Given the description of an element on the screen output the (x, y) to click on. 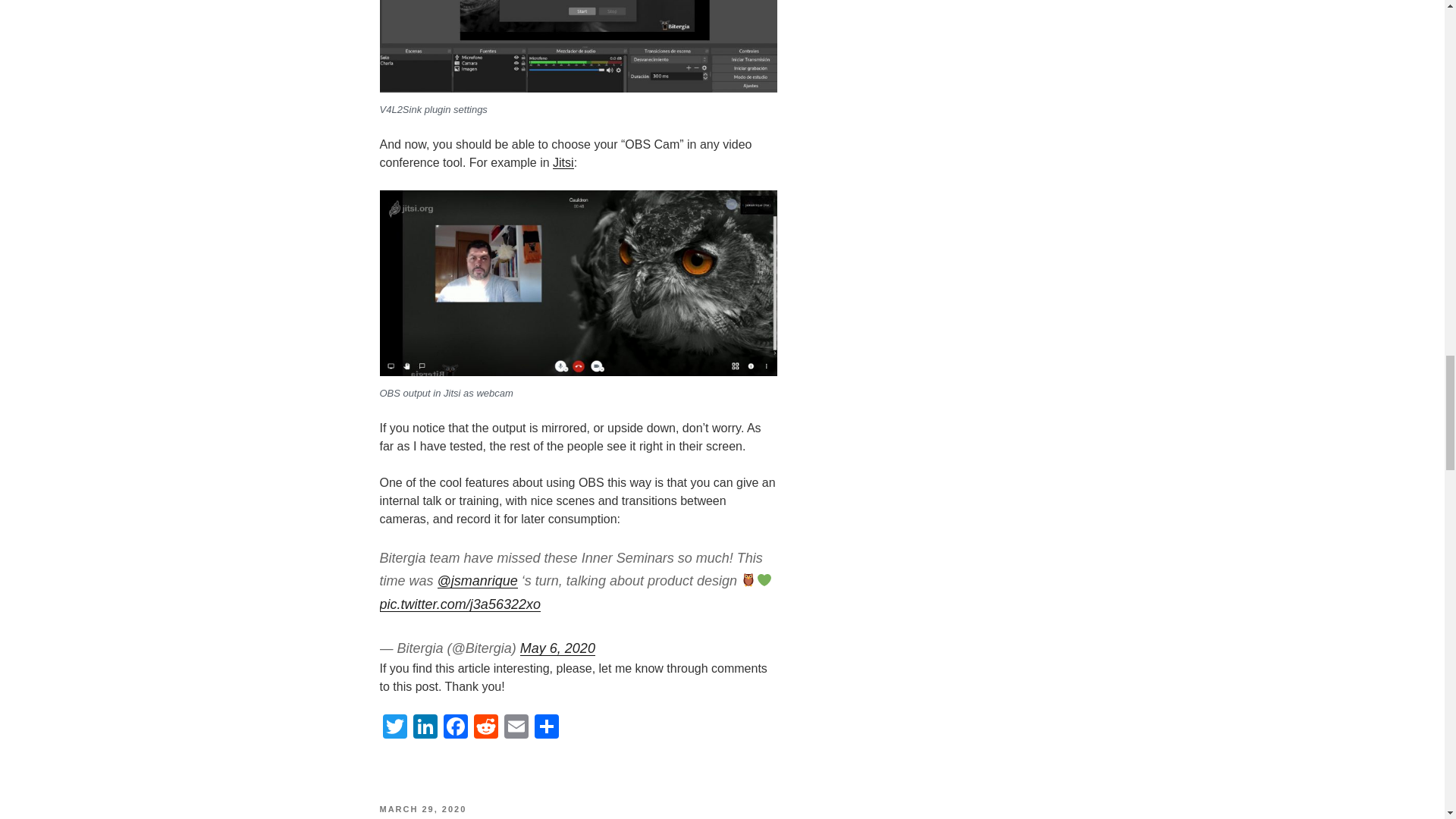
Twitter (393, 728)
Facebook (454, 728)
Email (515, 728)
Email (515, 728)
Reddit (485, 728)
MARCH 29, 2020 (421, 809)
Twitter (393, 728)
Facebook (454, 728)
Reddit (485, 728)
LinkedIn (424, 728)
Jitsi (563, 162)
May 6, 2020 (557, 648)
LinkedIn (424, 728)
